Given the description of an element on the screen output the (x, y) to click on. 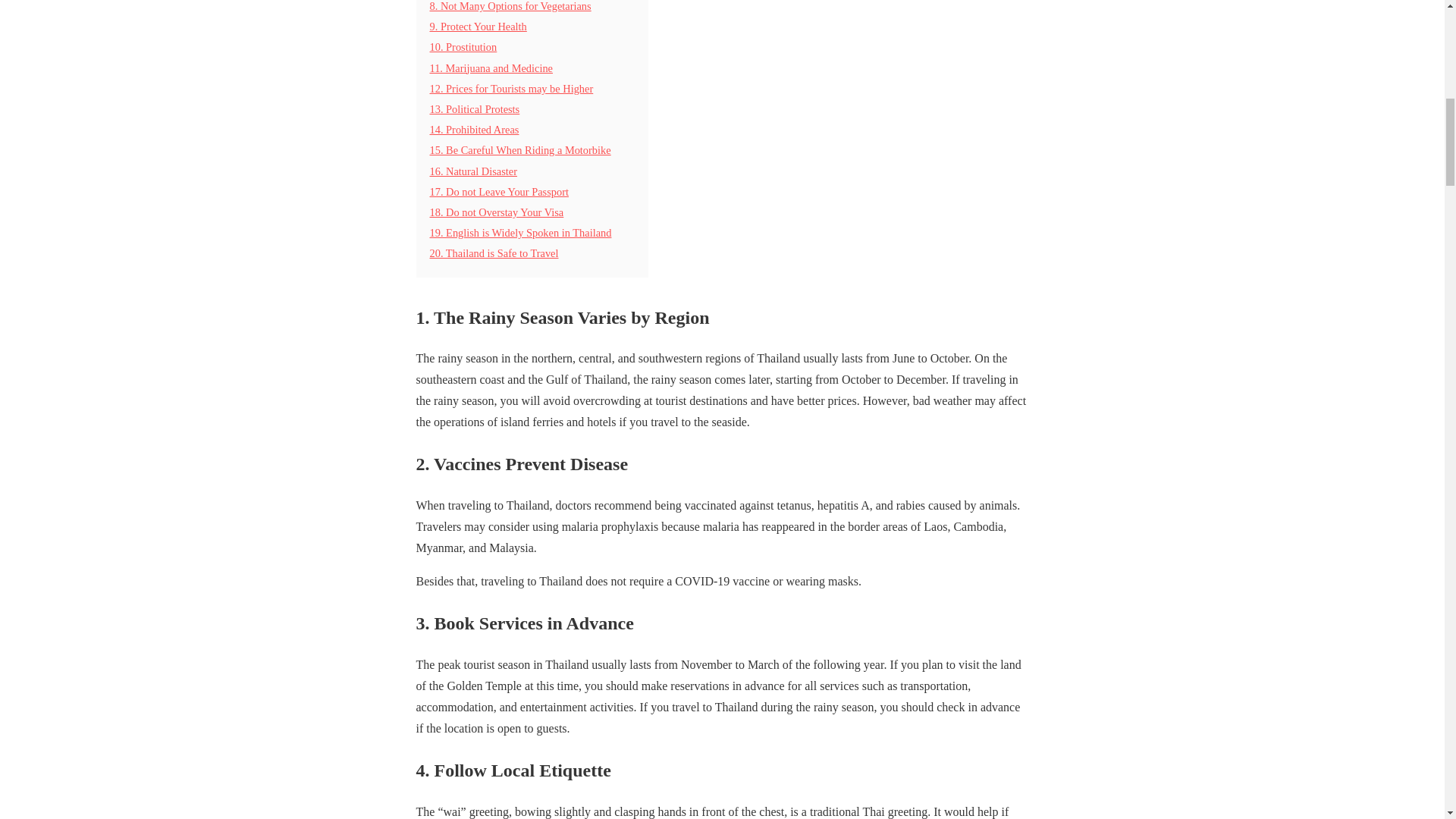
14. Prohibited Areas (473, 129)
18. Do not Overstay Your Visa (496, 212)
8. Not Many Options for Vegetarians (510, 6)
13. Political Protests (474, 109)
15. Be Careful When Riding a Motorbike (519, 150)
19. English is Widely Spoken in Thailand (520, 232)
20. Thailand is Safe to Travel (493, 253)
9. Protect Your Health (477, 26)
11. Marijuana and Medicine (491, 68)
12. Prices for Tourists may be Higher (510, 88)
10. Prostitution (462, 46)
17. Do not Leave Your Passport (498, 191)
16. Natural Disaster (472, 171)
